Given the description of an element on the screen output the (x, y) to click on. 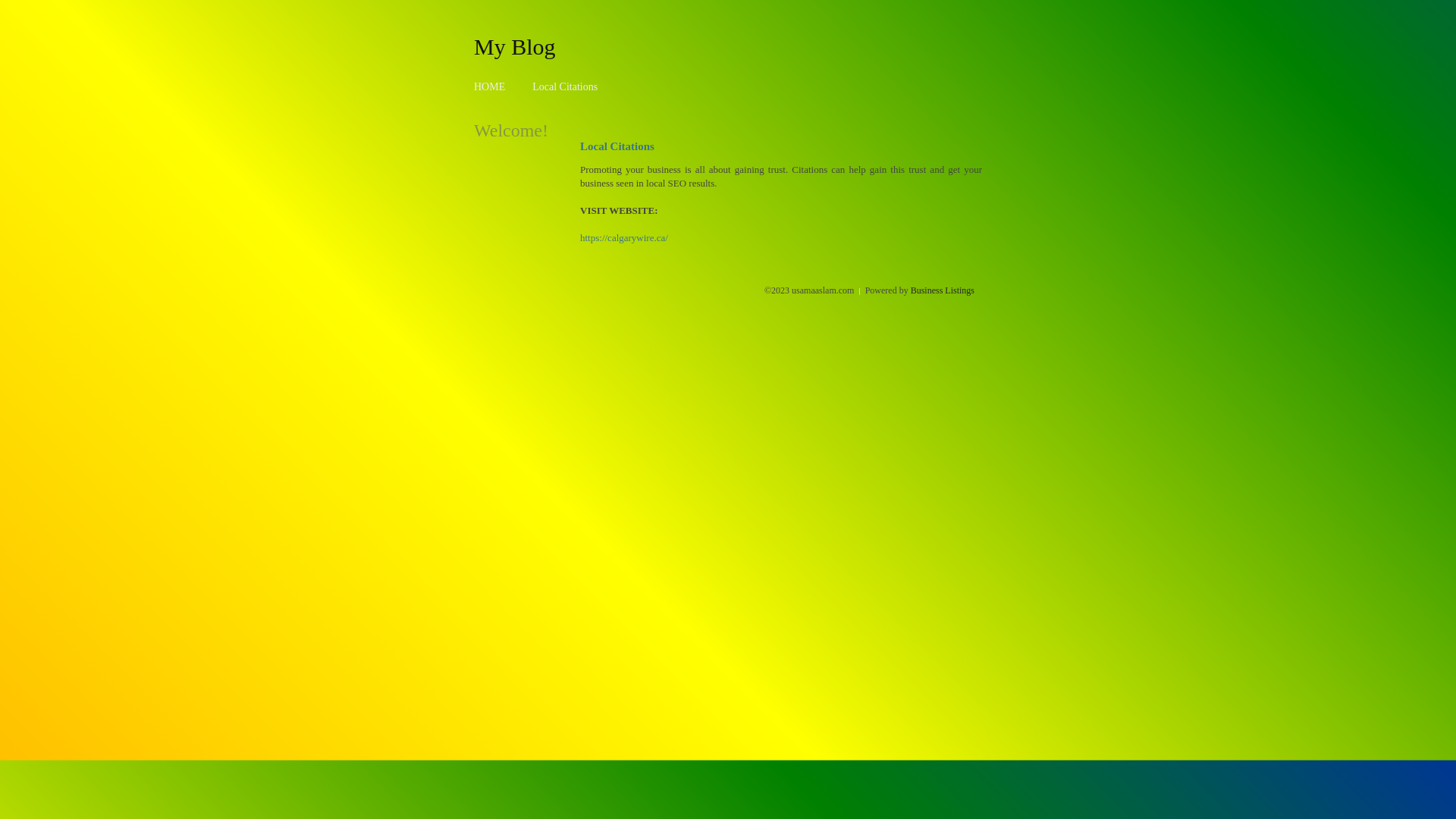
HOME Element type: text (489, 86)
https://calgarywire.ca/ Element type: text (624, 237)
My Blog Element type: text (514, 46)
Business Listings Element type: text (942, 290)
Local Citations Element type: text (564, 86)
